Given the description of an element on the screen output the (x, y) to click on. 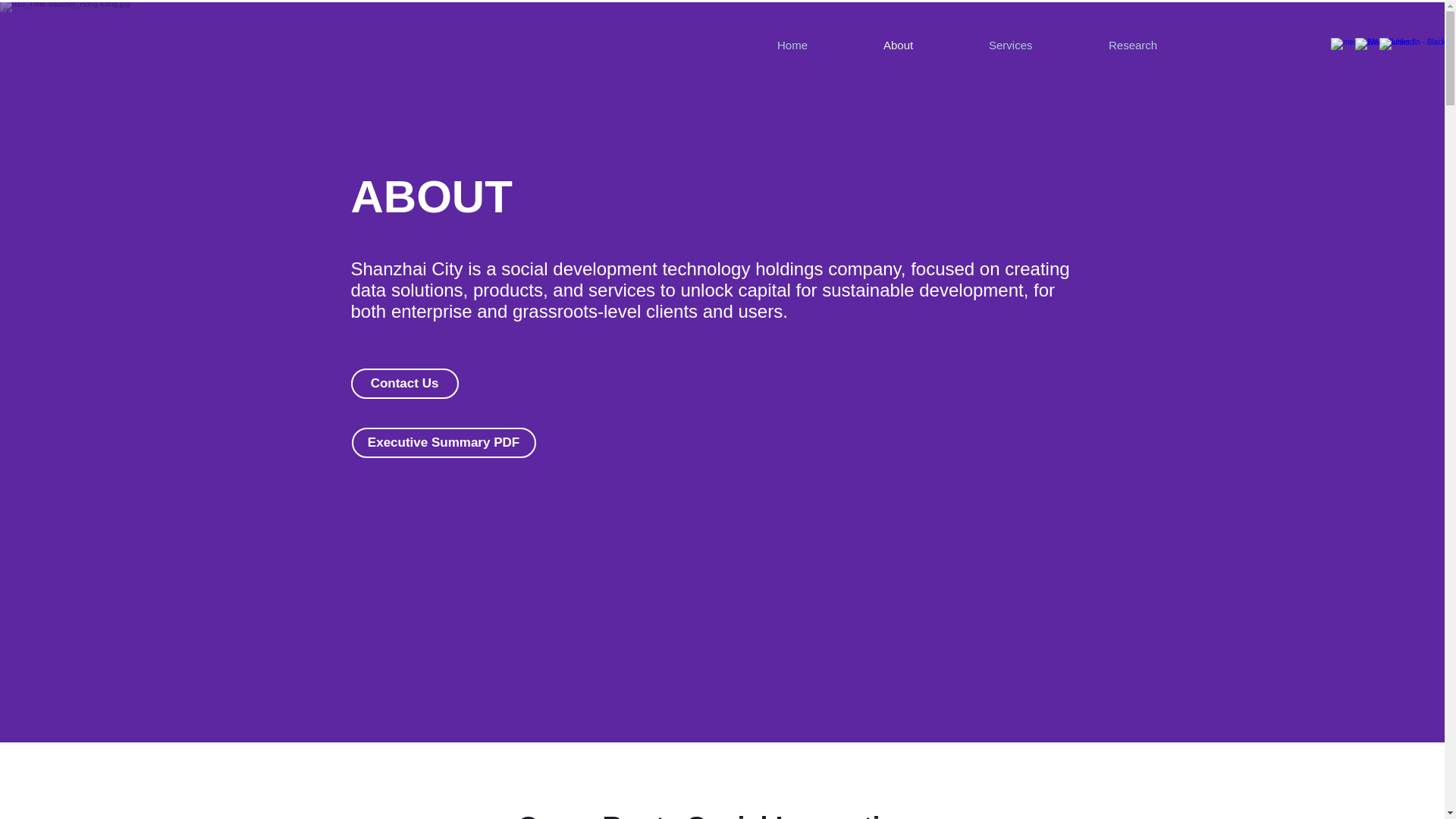
Research (1158, 45)
About (923, 45)
Executive Summary PDF (443, 442)
Contact Us (404, 383)
Home (817, 45)
Services (1036, 45)
